Given the description of an element on the screen output the (x, y) to click on. 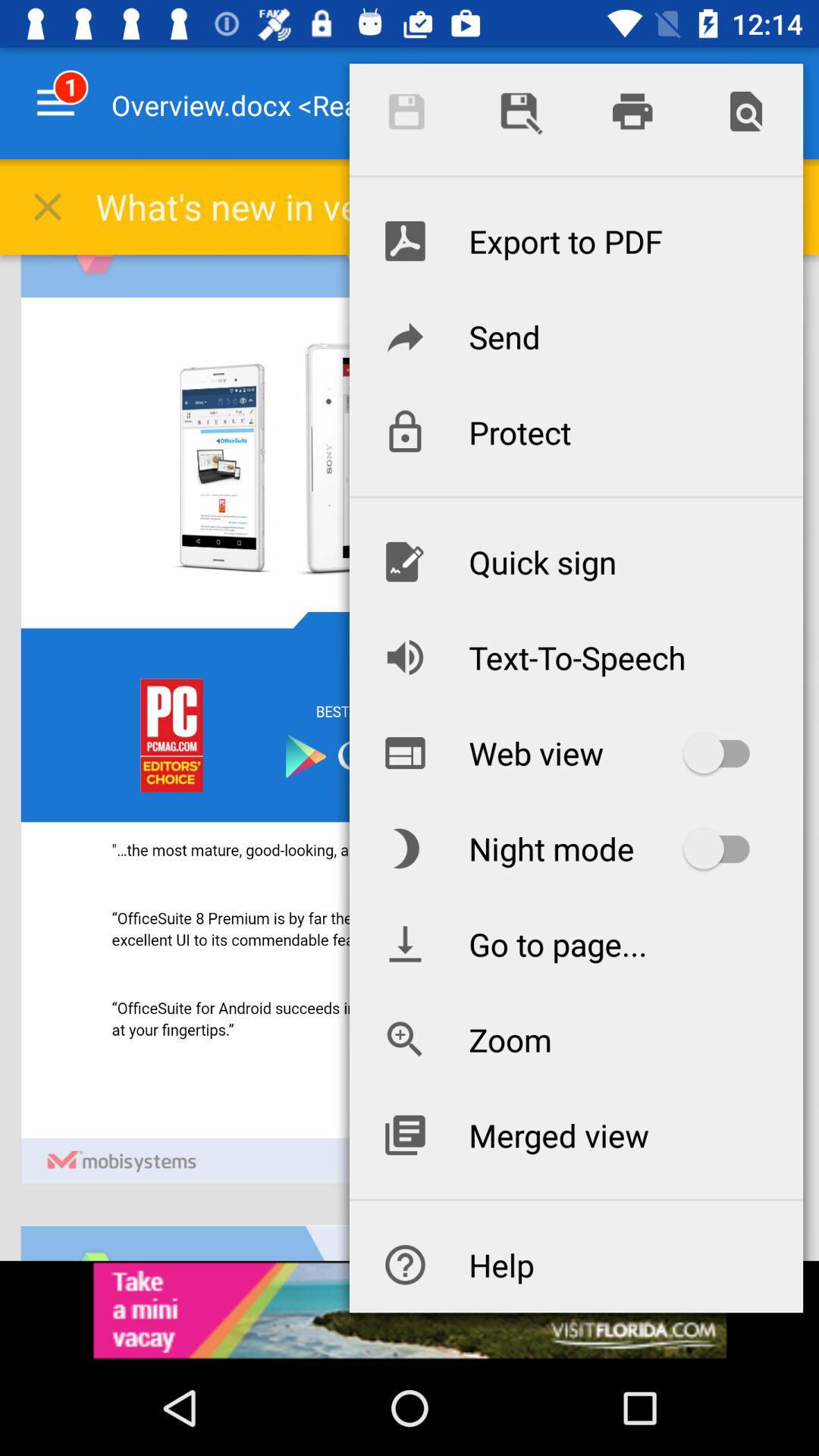
tap icon above the zoom icon (576, 943)
